Given the description of an element on the screen output the (x, y) to click on. 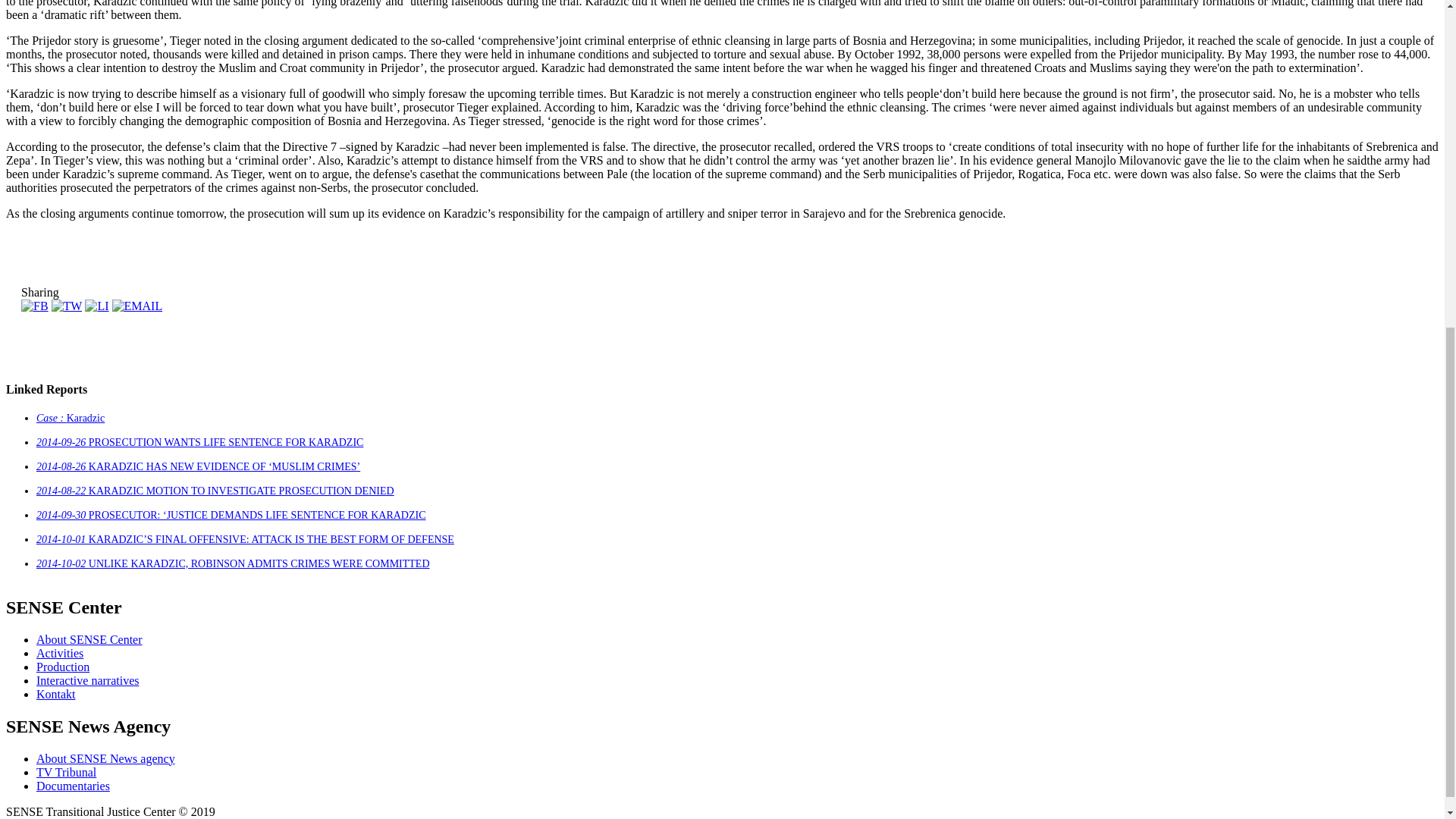
Case : Karadzic (339, 553)
2014-09-26 PROSECUTION WANTS LIFE SENTENCE FOR KARADZIC (473, 583)
2014-08-22 KARADZIC MOTION TO INVESTIGATE PROSECUTION DENIED (486, 644)
